Given the description of an element on the screen output the (x, y) to click on. 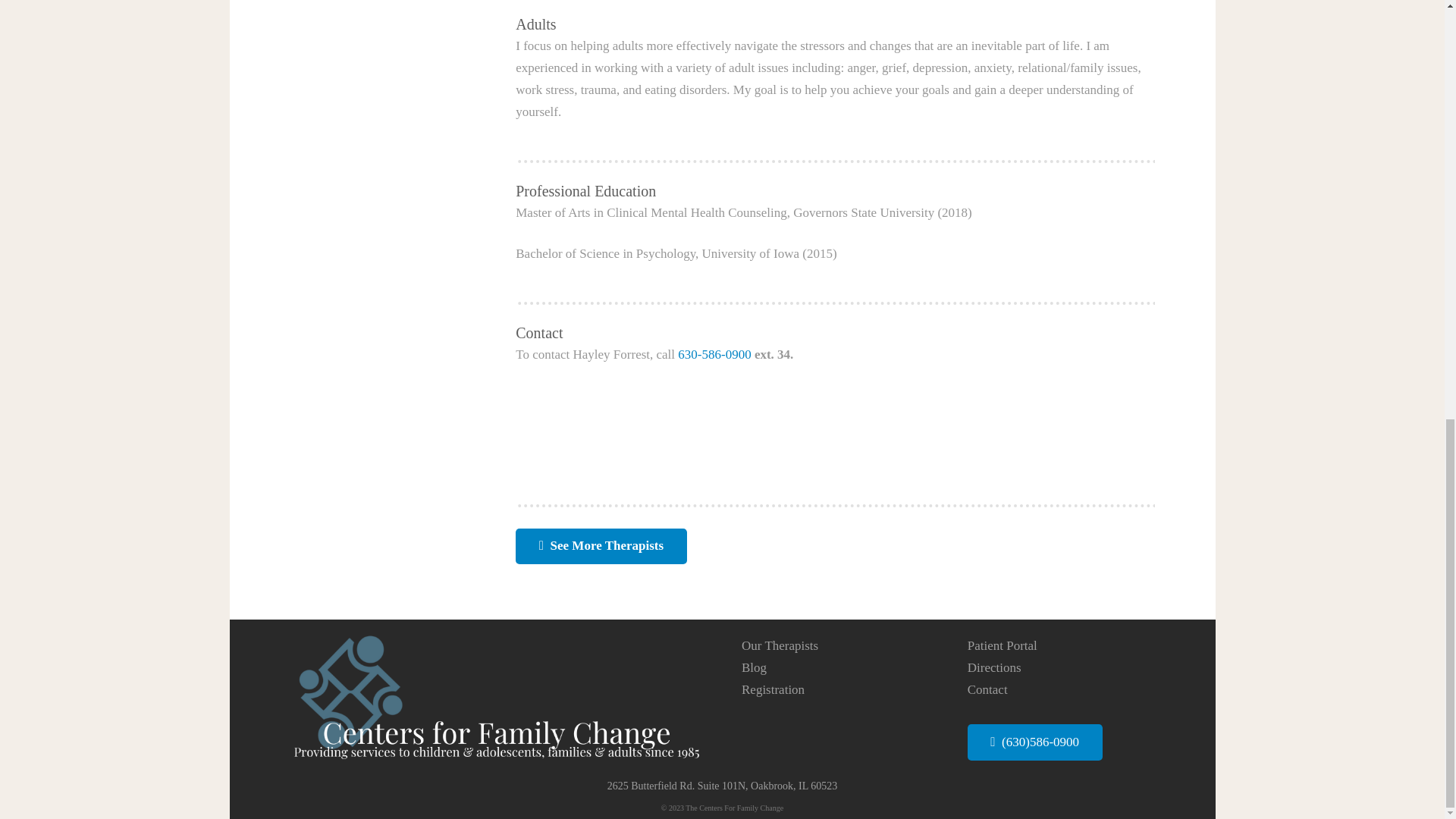
Back to top (1413, 2)
grant (600, 546)
